Given the description of an element on the screen output the (x, y) to click on. 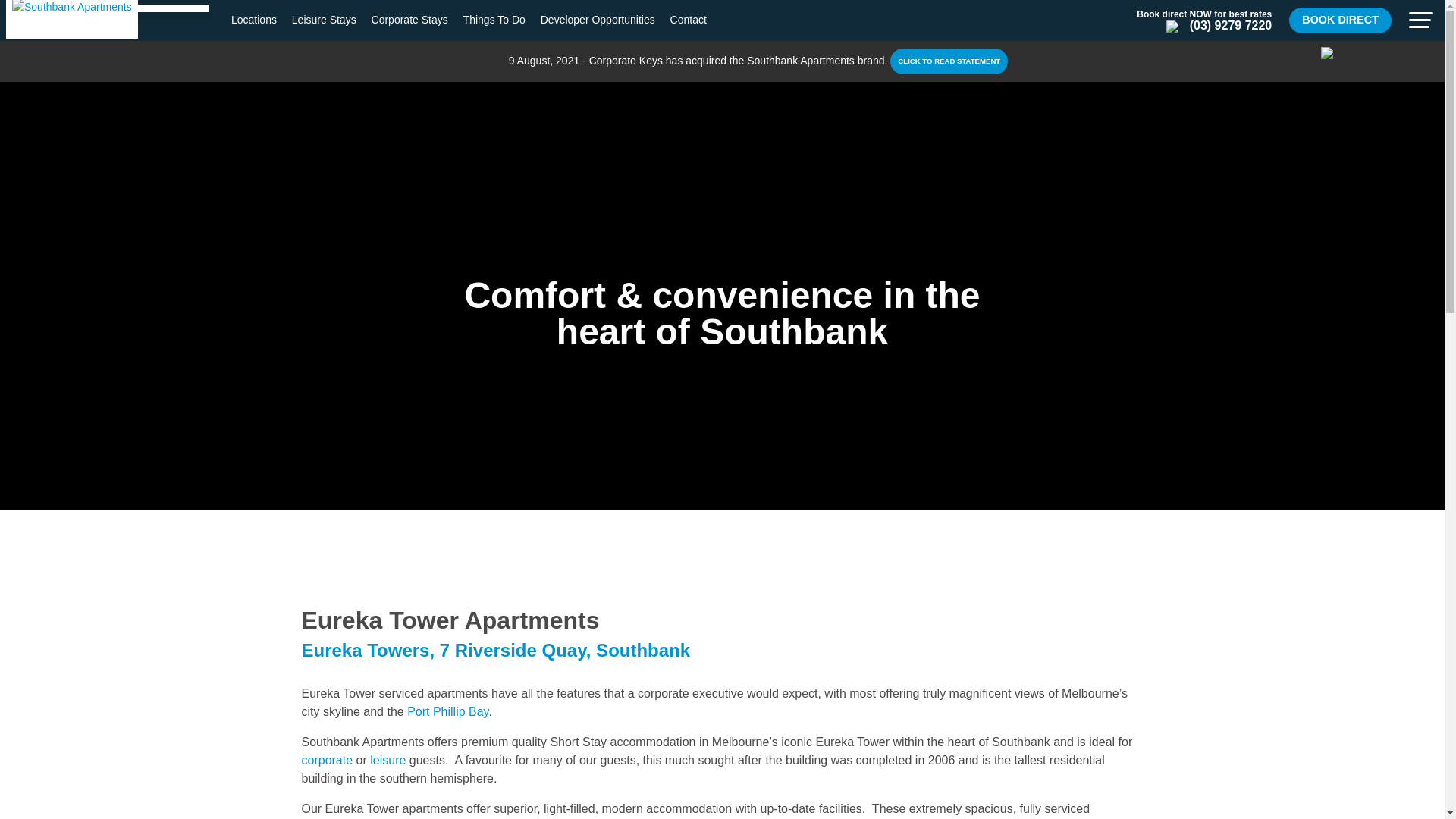
CLICK TO READ STATEMENT (948, 61)
Port Phillip Bay (447, 711)
Corporate Stays (409, 19)
Locations (253, 19)
Leisure Stays (324, 19)
Contact (687, 19)
corporate (327, 759)
Chat with us (1326, 52)
leisure (387, 759)
Developer Opportunities (597, 19)
Things To Do (494, 19)
BOOK DIRECT (1339, 20)
